Given the description of an element on the screen output the (x, y) to click on. 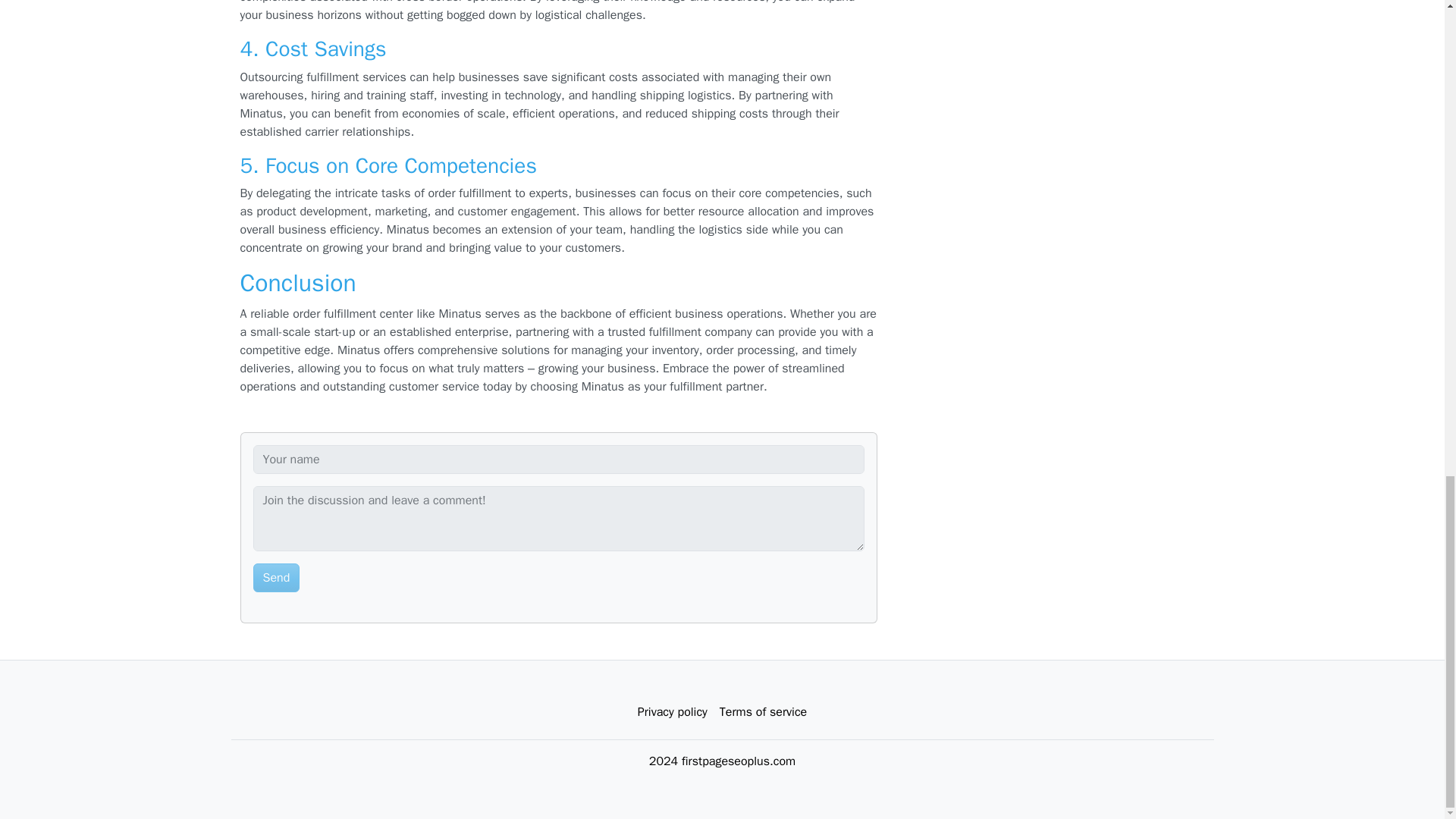
Send (276, 577)
Terms of service (762, 711)
Privacy policy (672, 711)
Send (276, 577)
